Given the description of an element on the screen output the (x, y) to click on. 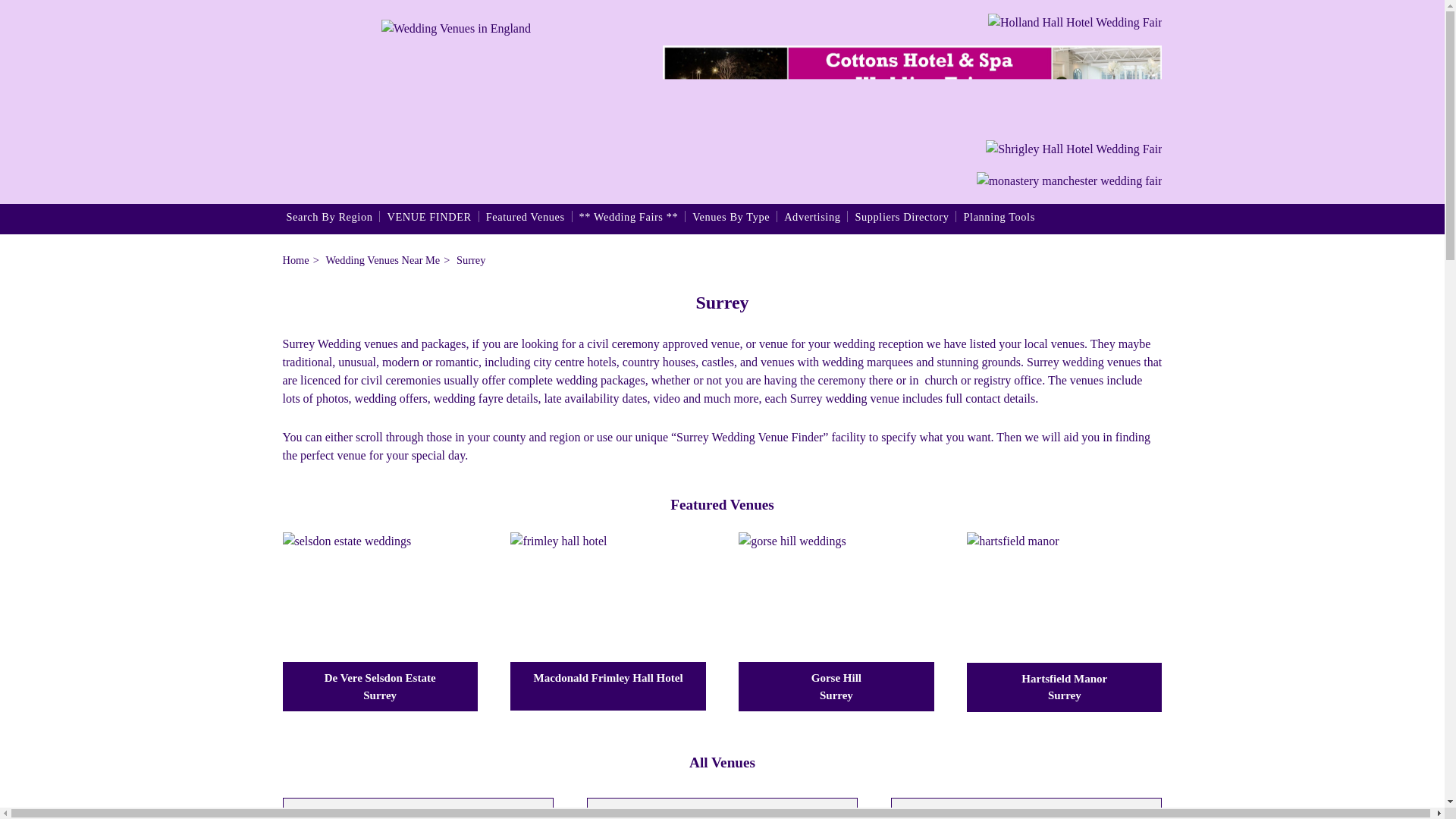
Venues By Type (730, 218)
Go to Wedding Venues in England. (295, 259)
VENUE FINDER (428, 218)
Search By Region (328, 218)
Featured Venues (525, 218)
Go to Wedding Venues Near Me. (381, 259)
